Given the description of an element on the screen output the (x, y) to click on. 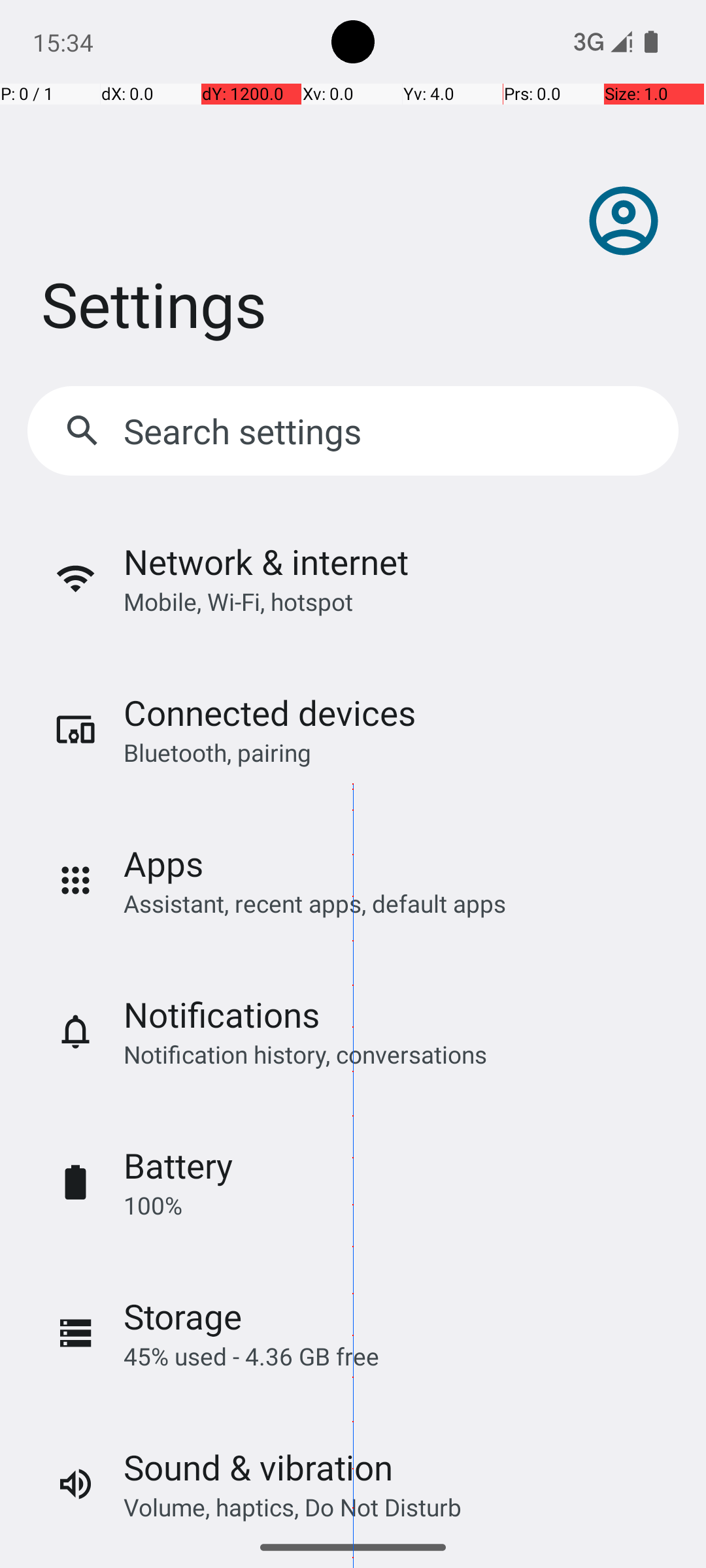
45% used - 4.36 GB free Element type: android.widget.TextView (251, 1355)
